Given the description of an element on the screen output the (x, y) to click on. 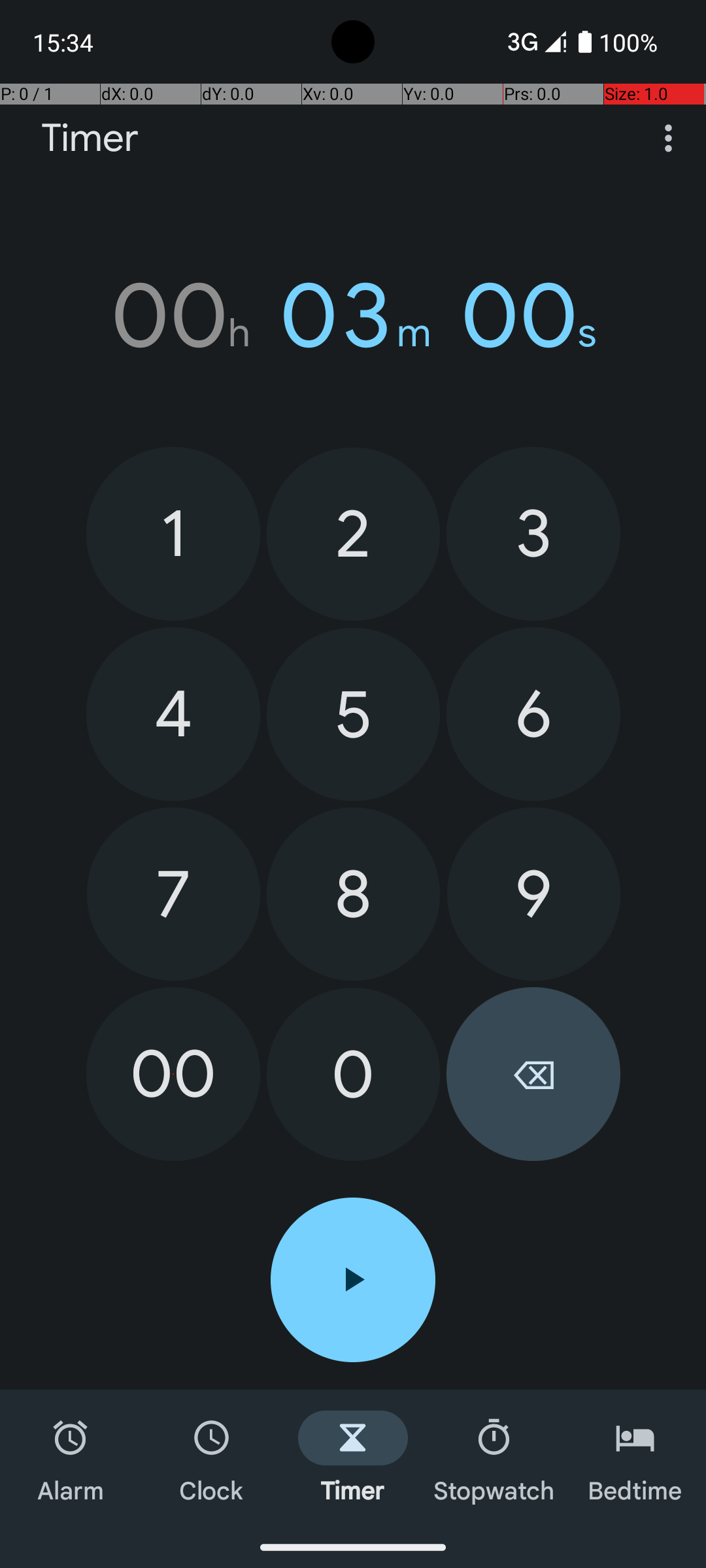
00h 03m 00s Element type: android.widget.TextView (353, 315)
